Given the description of an element on the screen output the (x, y) to click on. 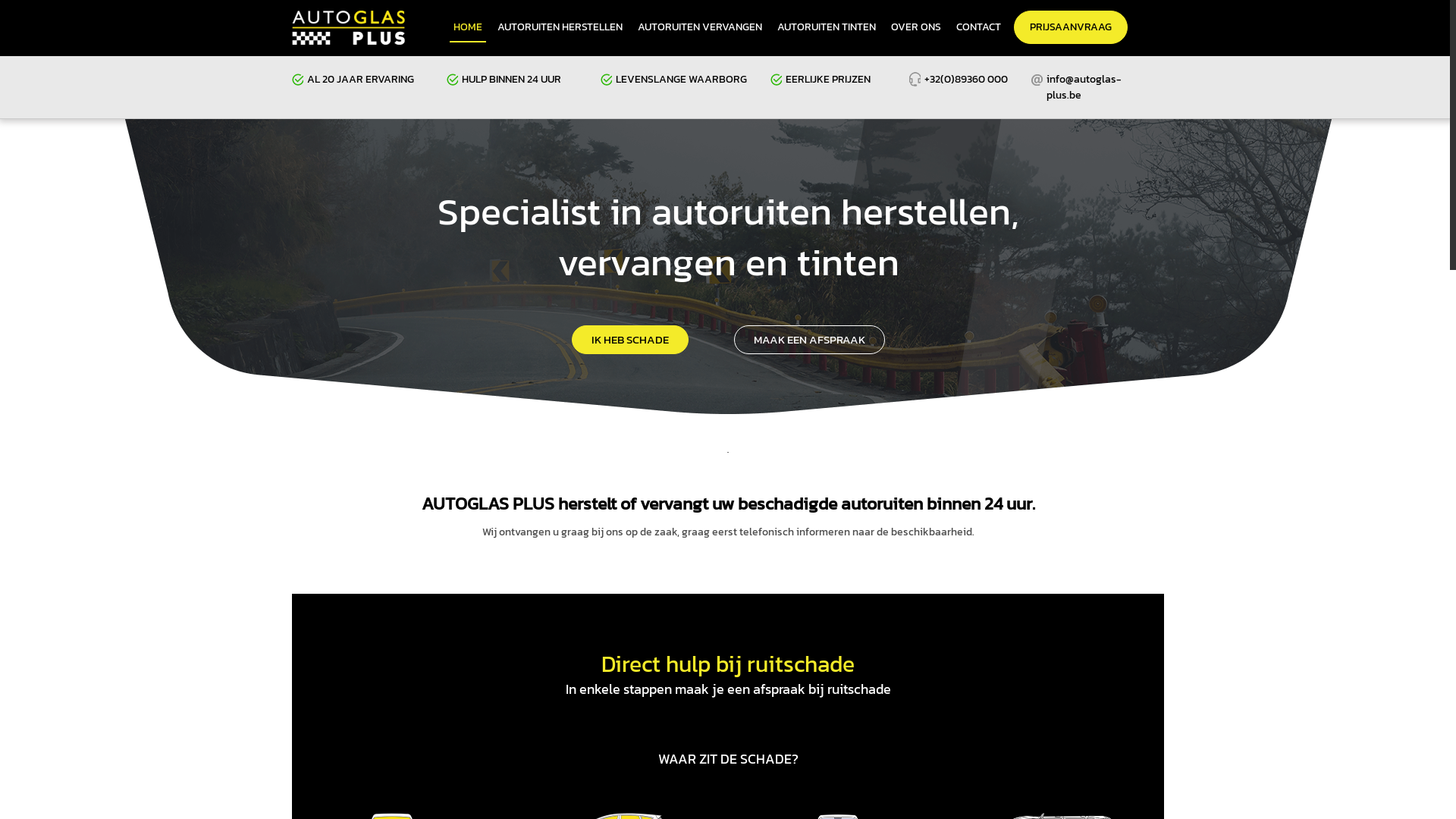
OVER ONS Element type: text (915, 27)
AUTORUITEN TINTEN Element type: text (826, 27)
PRIJSAANVRAAG Element type: text (1070, 26)
AUTORUITEN VERVANGEN Element type: text (699, 27)
+32(0)89360 000 Element type: text (965, 79)
AUTORUITEN HERSTELLEN Element type: text (559, 27)
IK HEB SCHADE Element type: text (629, 339)
MAAK EEN AFSPRAAK Element type: text (809, 339)
CONTACT Element type: text (978, 27)
info@autoglas-plus.be Element type: text (1083, 87)
HOME Element type: text (467, 27)
